Given the description of an element on the screen output the (x, y) to click on. 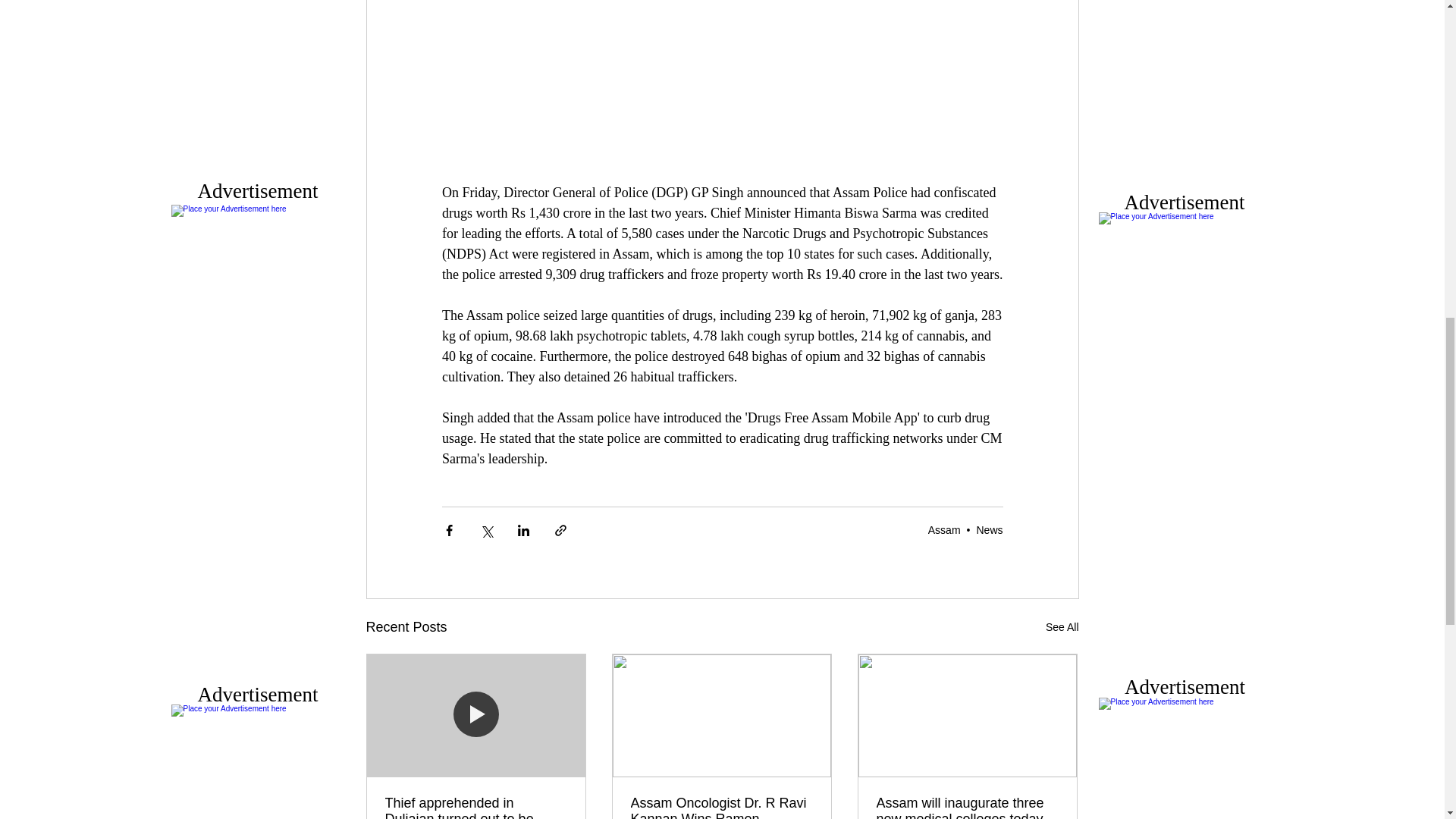
Assam (944, 530)
See All (1061, 627)
News (989, 530)
Assam will inaugurate three new medical colleges today (967, 807)
